Given the description of an element on the screen output the (x, y) to click on. 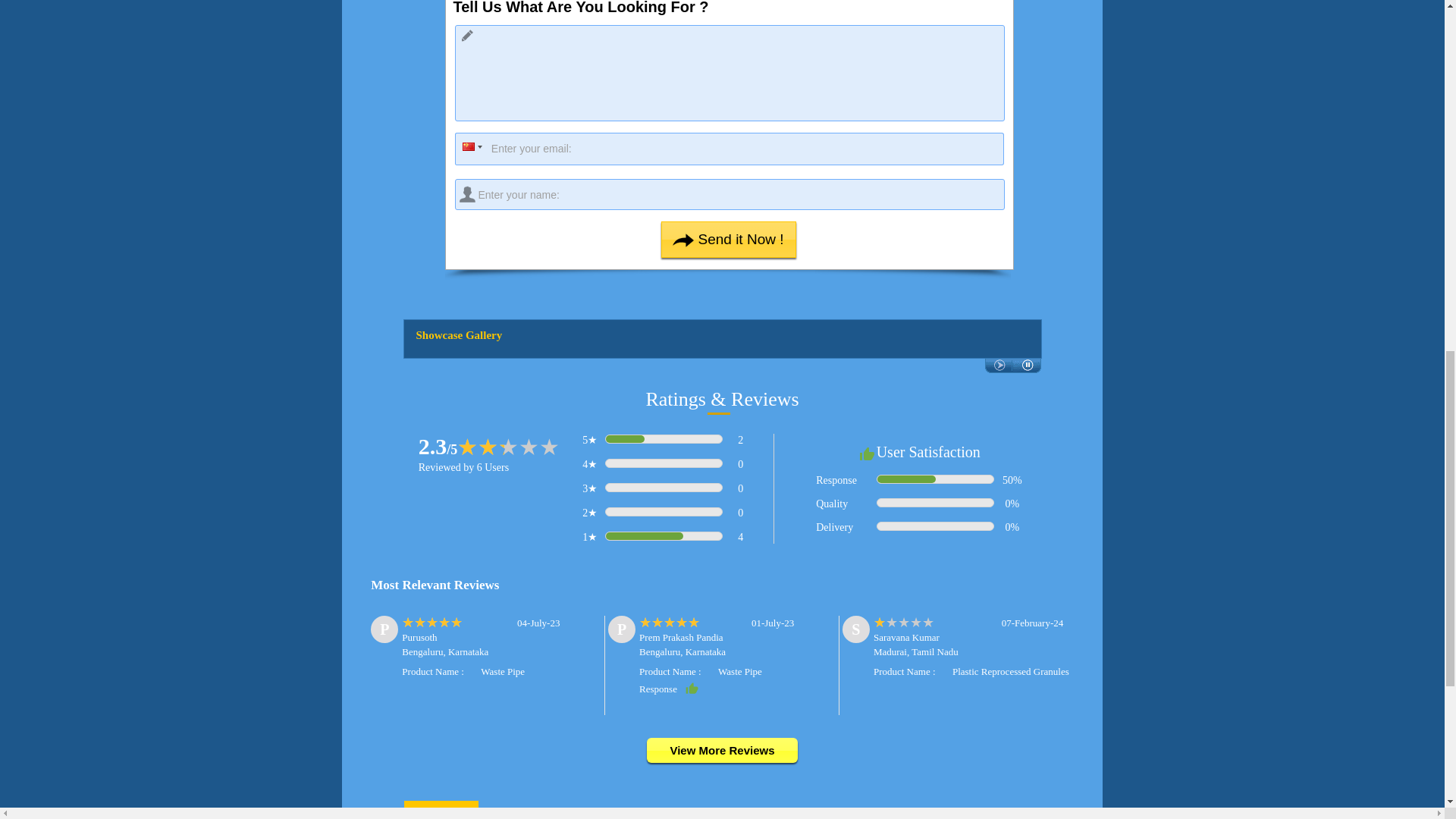
View More Reviews (721, 751)
2.3 out of 5 Votes (438, 446)
Enter your name: (729, 194)
Send it Now ! (728, 239)
Send it Now ! (728, 239)
Enter your email: (729, 148)
Contact Us (439, 813)
